Given the description of an element on the screen output the (x, y) to click on. 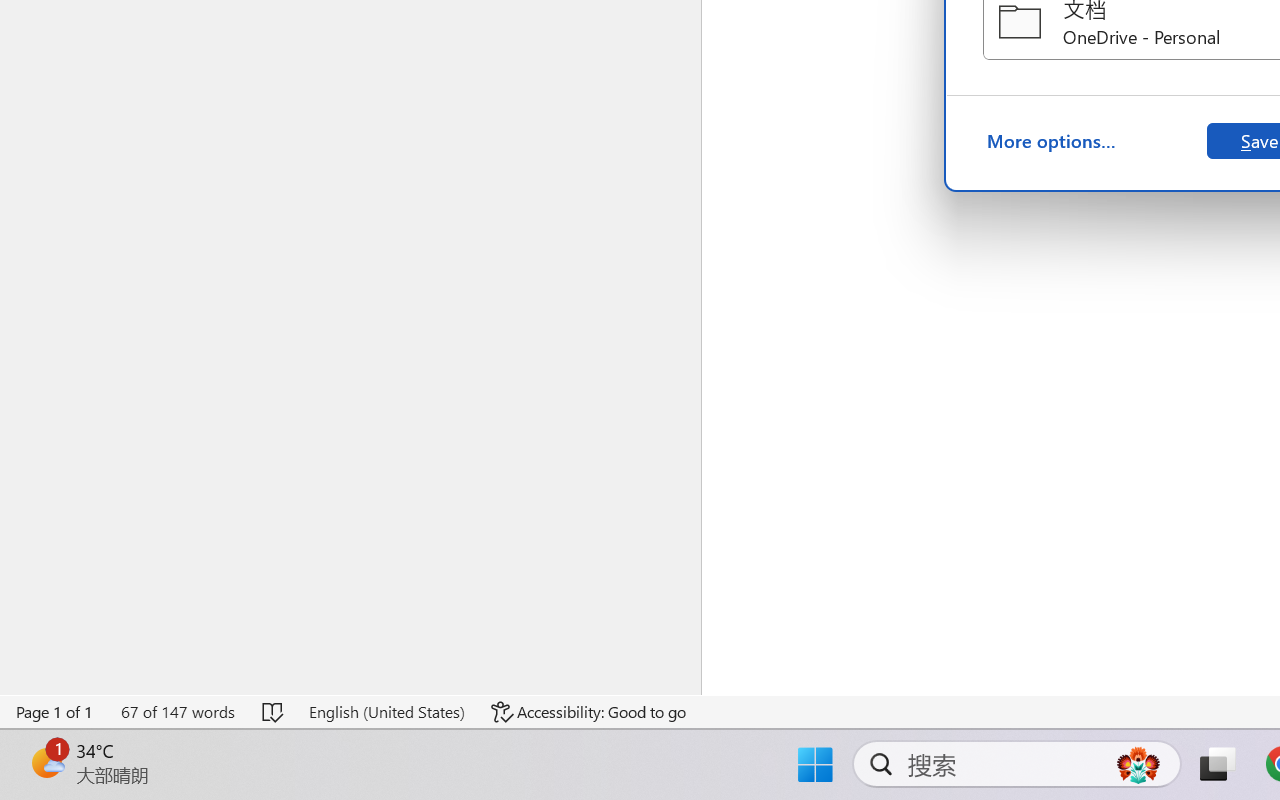
Page Number Page 1 of 1 (55, 712)
